Given the description of an element on the screen output the (x, y) to click on. 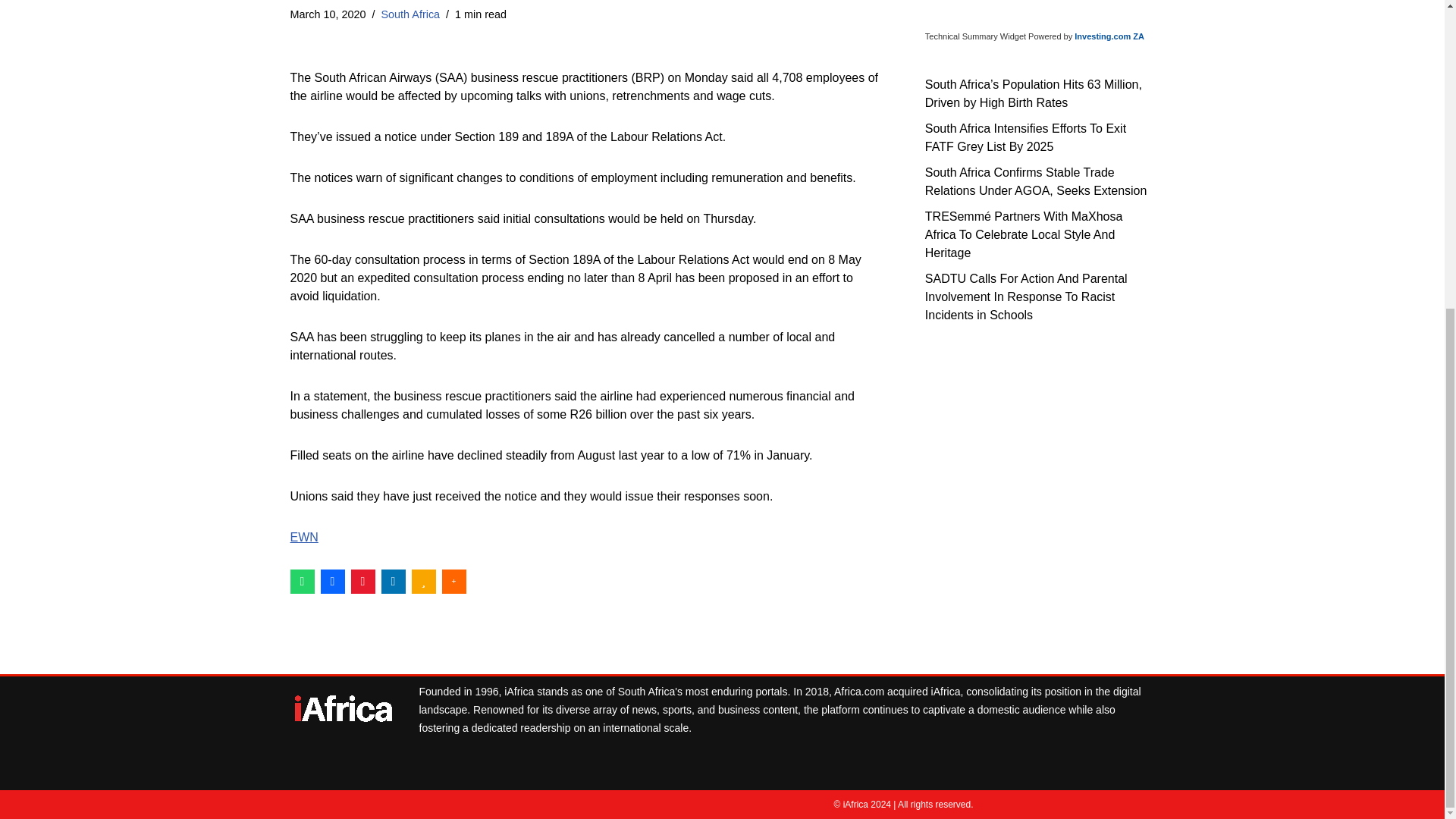
Investing.com ZA (1109, 35)
South Africa (409, 13)
Add to favorites (422, 580)
More share links (453, 580)
WhatsApp (301, 580)
Add this to LinkedIn (392, 580)
EWN (303, 536)
Convert to PDF (362, 580)
Share this on Facebook (331, 580)
